Given the description of an element on the screen output the (x, y) to click on. 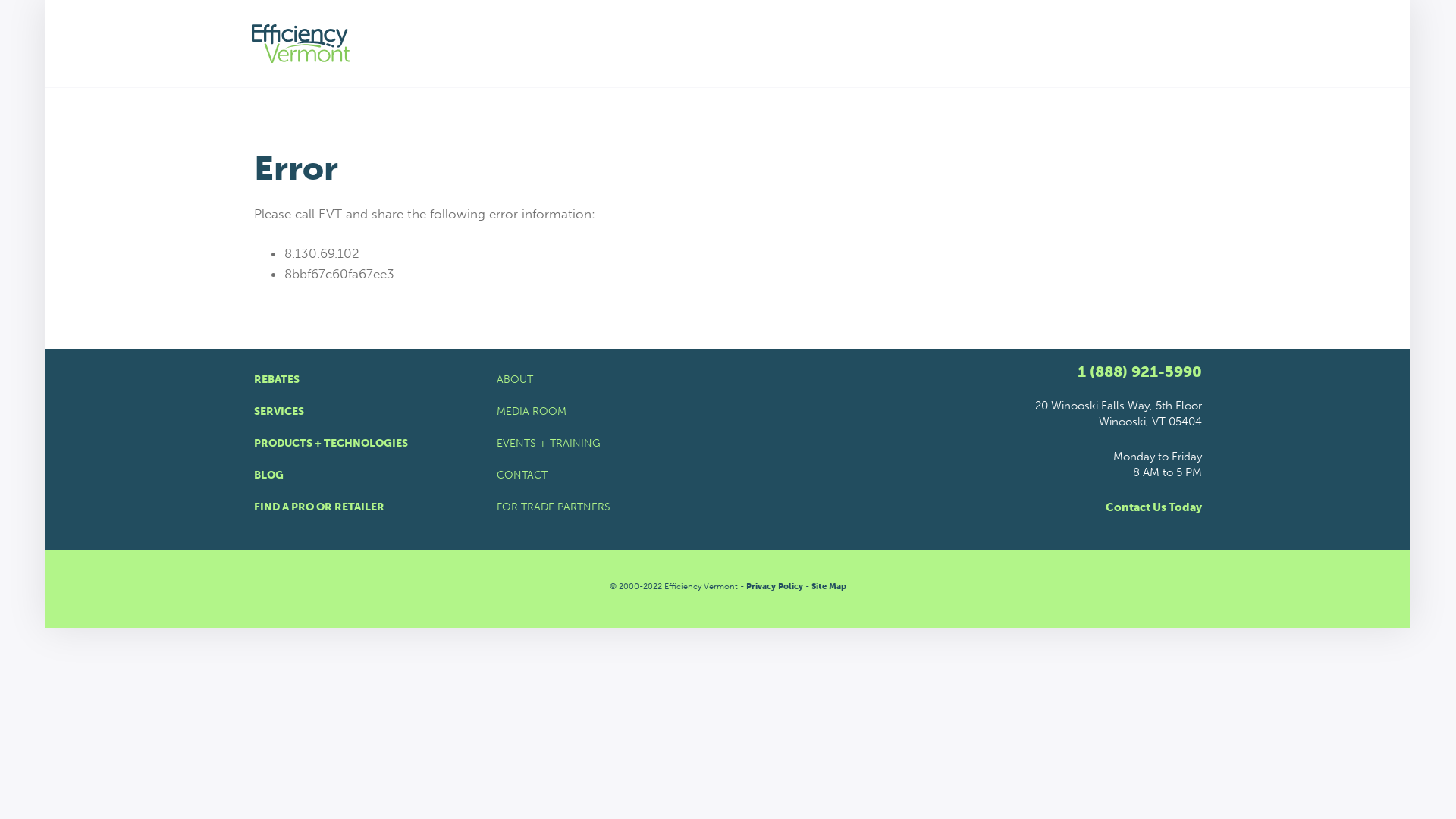
FOR TRADE PARTNERS (727, 507)
Privacy Policy (774, 586)
FIND A PRO OR RETAILER (363, 507)
BLOG (363, 475)
CONTACT (727, 475)
SERVICES (363, 411)
REBATES (363, 379)
ABOUT (727, 379)
MEDIA ROOM (727, 411)
Contact Us Today (1153, 507)
